Given the description of an element on the screen output the (x, y) to click on. 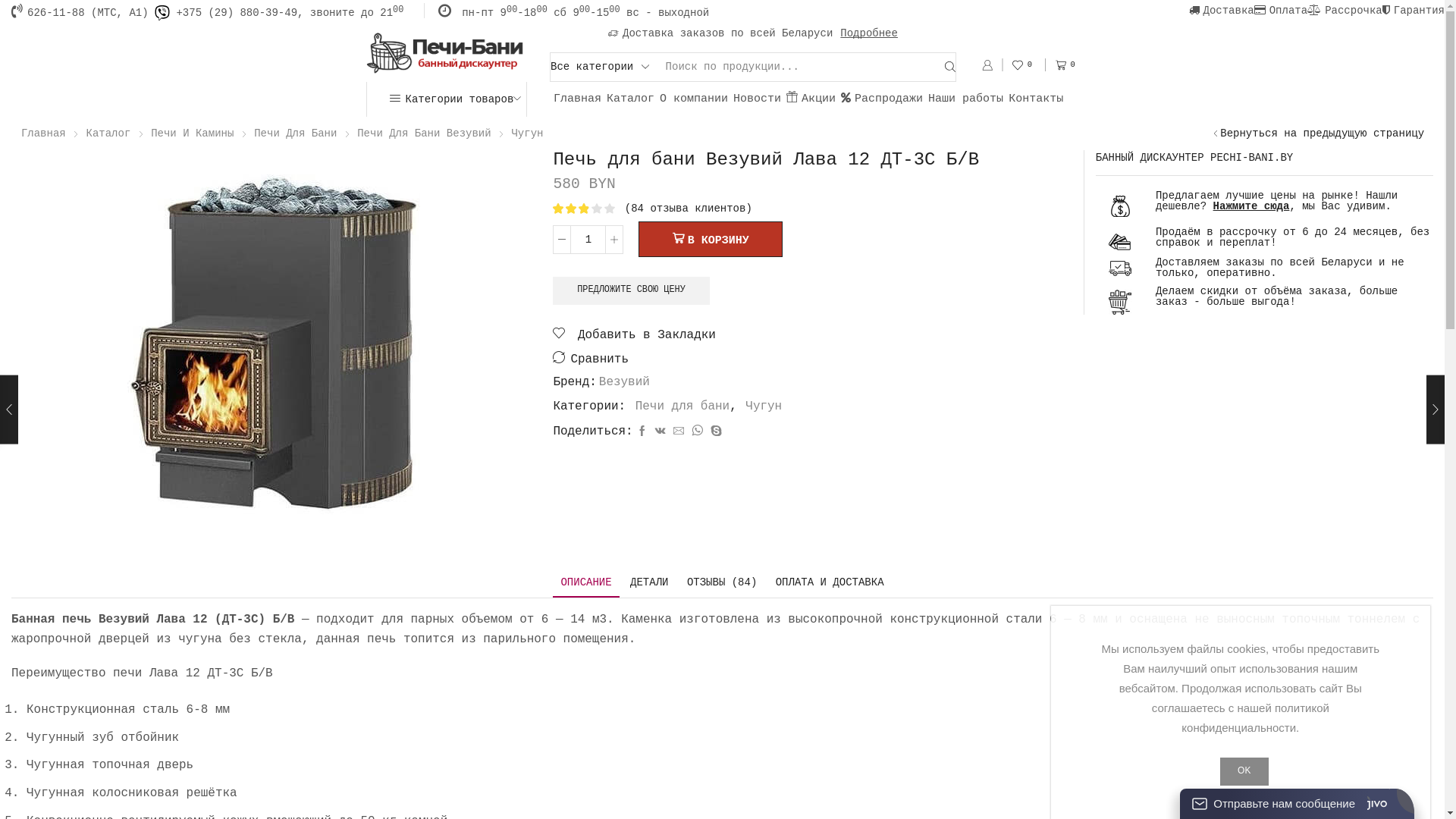
Mail to friend Element type: hover (678, 432)
Facebook Element type: hover (642, 432)
0 Element type: text (1067, 65)
skype Element type: hover (713, 432)
whatsapp Element type: hover (696, 432)
OK Element type: text (1244, 771)
lava12dt-3c Element type: hover (270, 341)
VK Element type: hover (660, 432)
Log in Element type: text (1084, 262)
0 Element type: text (1023, 65)
